Given the description of an element on the screen output the (x, y) to click on. 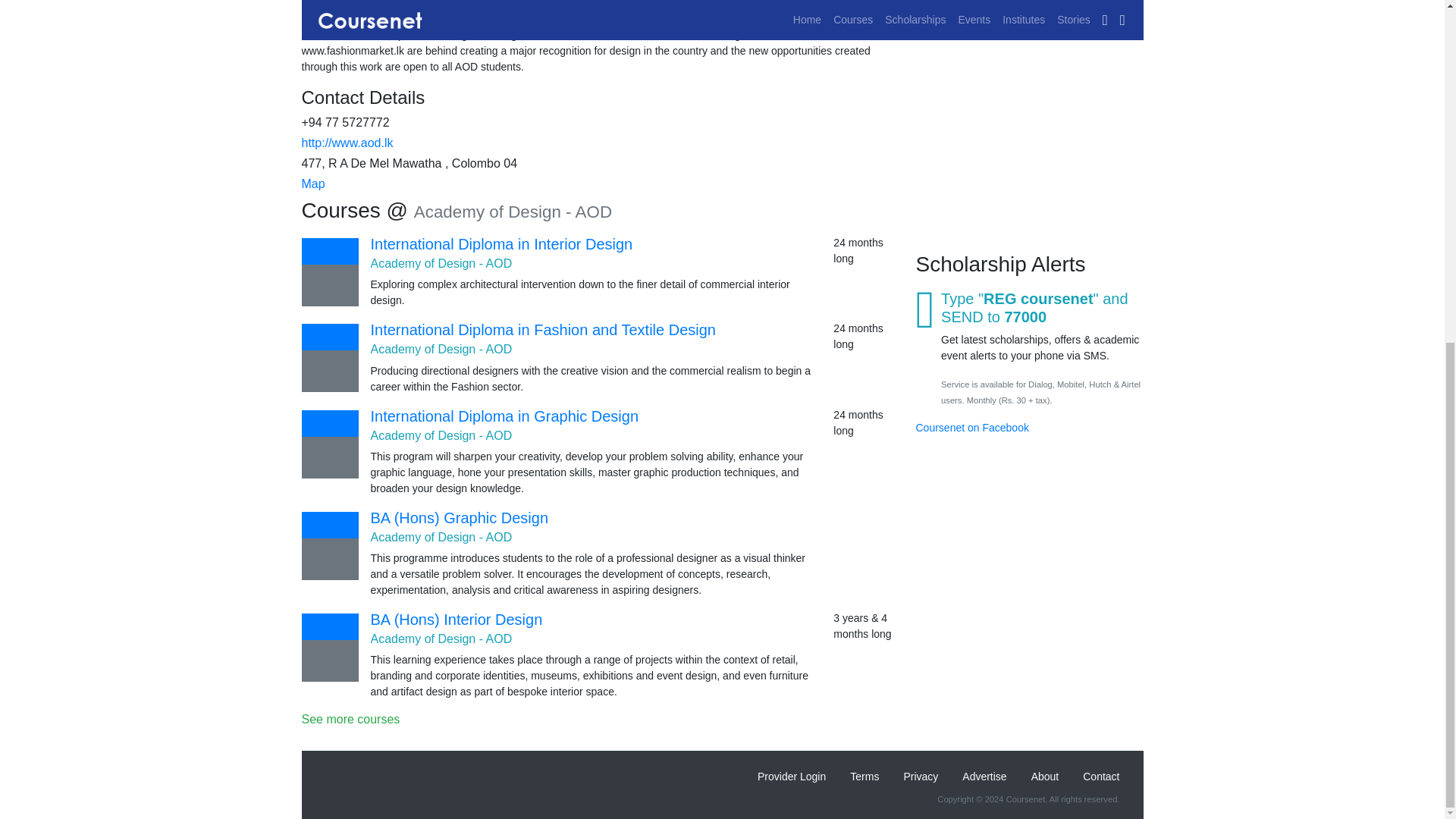
Terms (864, 776)
See more courses (602, 718)
Academy of Design - AOD (440, 263)
International Diploma in Graphic Design (504, 416)
Academy of Design - AOD (440, 638)
Coursenet on Facebook (972, 4)
Advertise (983, 776)
About (1045, 776)
Academy of Design - AOD (440, 349)
Academy of Design - AOD (440, 435)
